Given the description of an element on the screen output the (x, y) to click on. 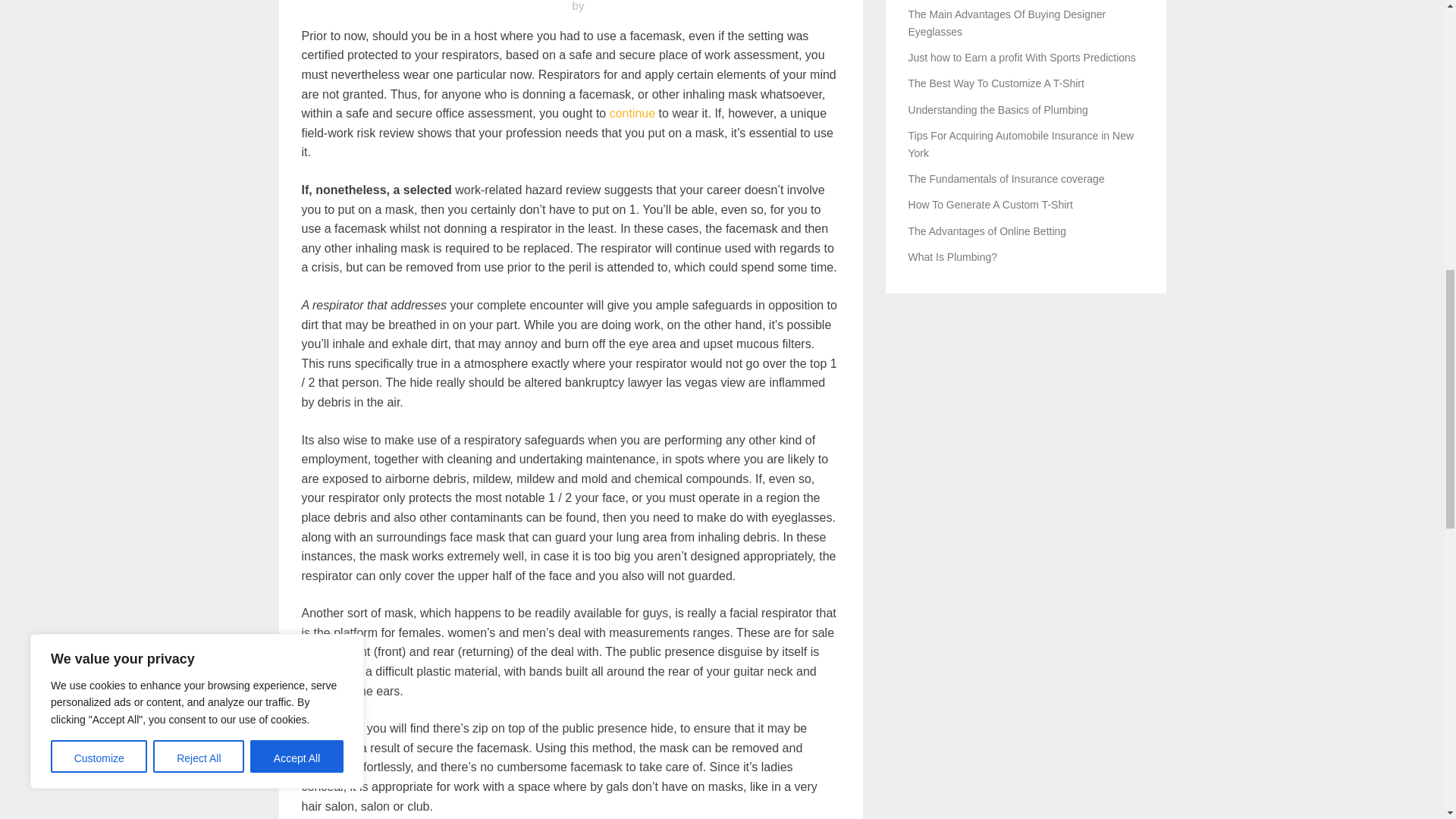
Understanding the Basics of Plumbing (997, 110)
continue (633, 113)
Just how to Earn a profit With Sports Predictions (1021, 57)
The Best Way To Customize A T-Shirt (996, 82)
The Main Advantages Of Buying Designer Eyeglasses (1007, 22)
